Given the description of an element on the screen output the (x, y) to click on. 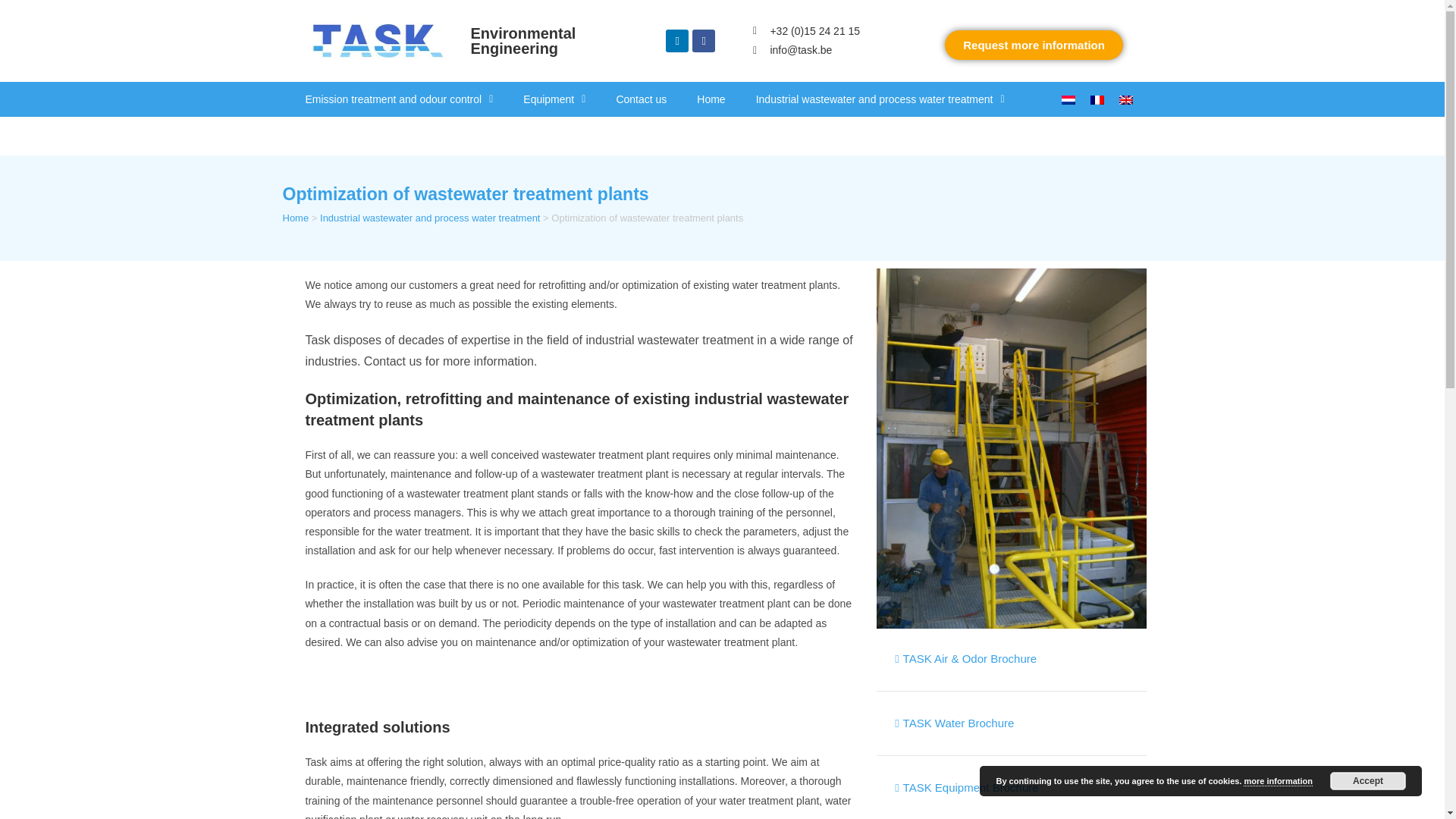
Industrial wastewater and process water treatment (880, 99)
Request more information (1033, 44)
Home (710, 99)
Contact us (640, 99)
Emission treatment and odour control (398, 99)
Equipment (553, 99)
